Given the description of an element on the screen output the (x, y) to click on. 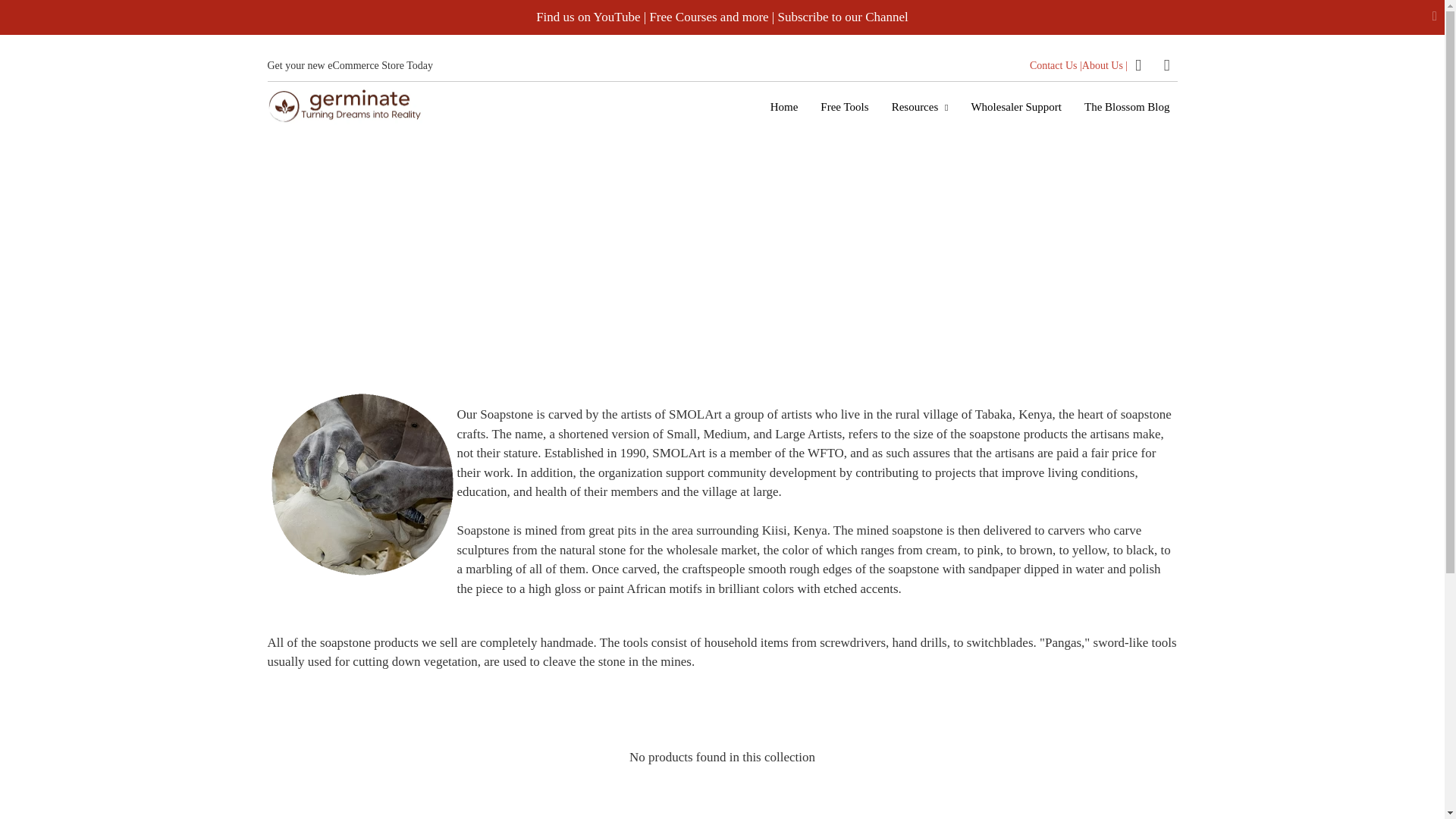
Translation missing: en.layout.general.title (1166, 65)
Resources (919, 106)
Free Tools (844, 106)
Home (784, 106)
Wholesaler Support (1015, 106)
The Blossom Blog (1127, 106)
Search (1137, 65)
